Given the description of an element on the screen output the (x, y) to click on. 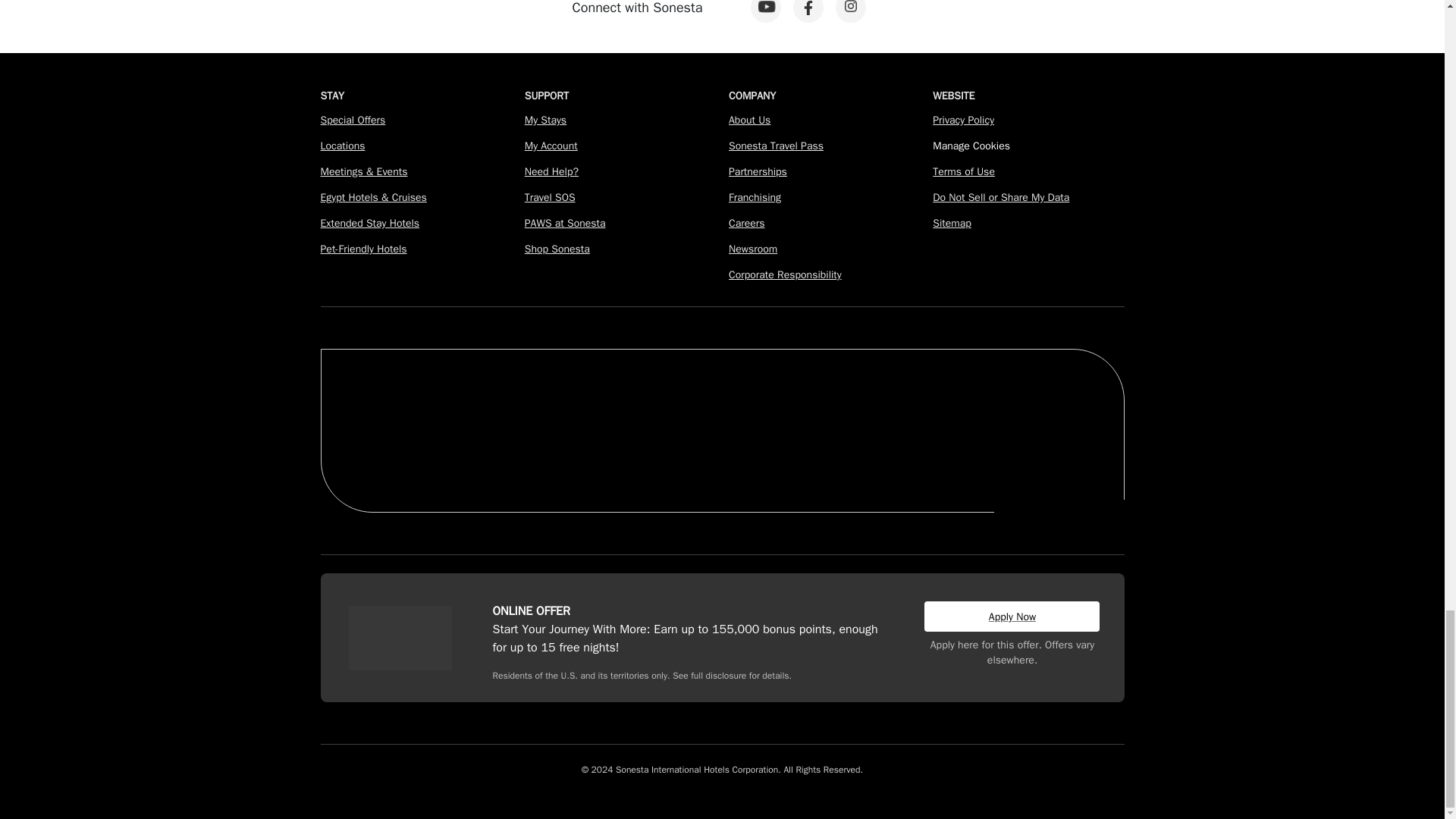
Need Help? (551, 171)
Sonesta Travel Pass (776, 145)
Newsroom (753, 248)
Americas Best Value Inn (810, 457)
Corporate Responsibility (785, 274)
Sonesta simply suites (537, 455)
About Us (749, 119)
Shop Sonesta (556, 248)
Sonesta Essential (679, 454)
Travel SOS (549, 196)
